Given the description of an element on the screen output the (x, y) to click on. 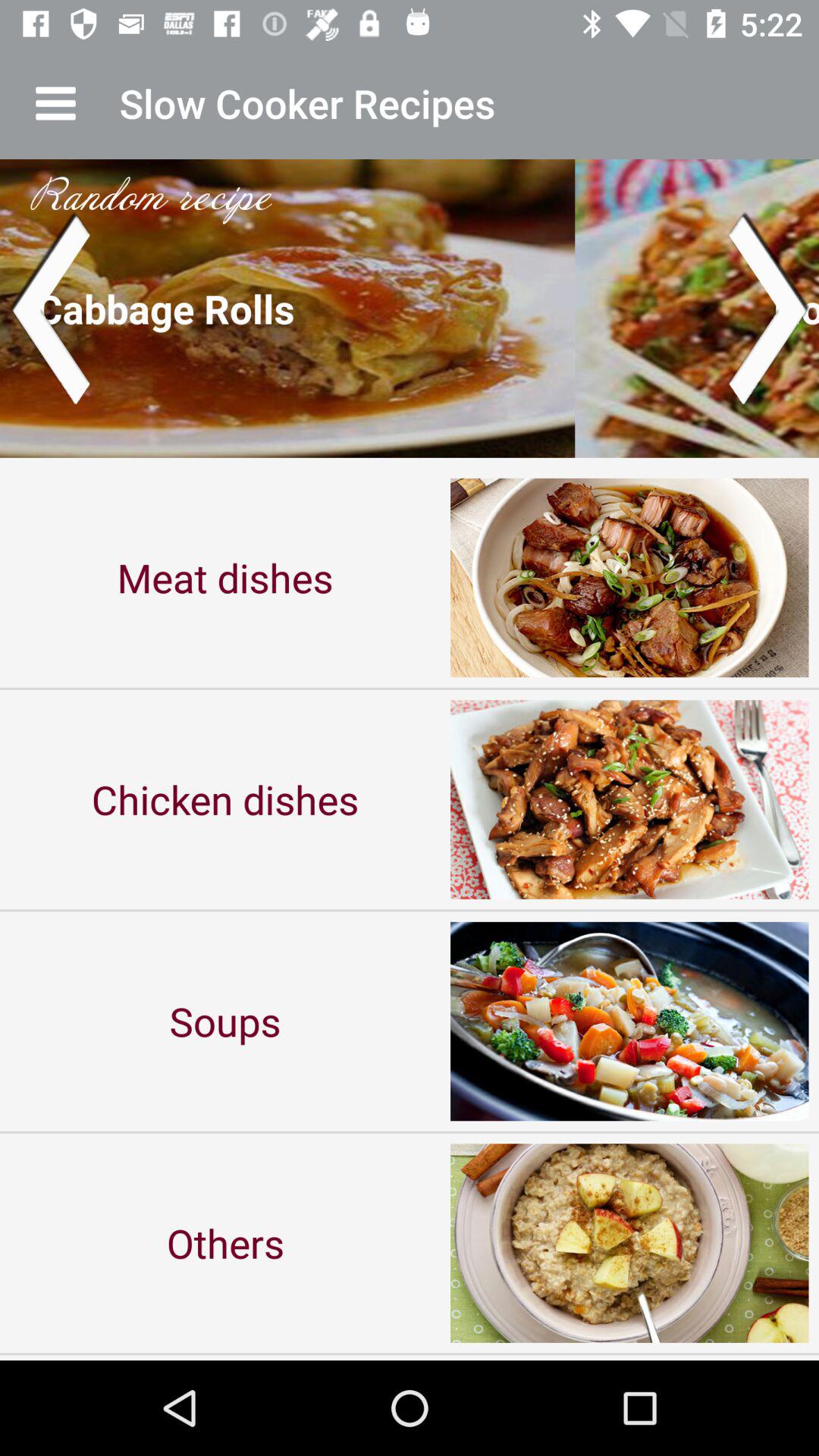
previous picture (49, 308)
